Given the description of an element on the screen output the (x, y) to click on. 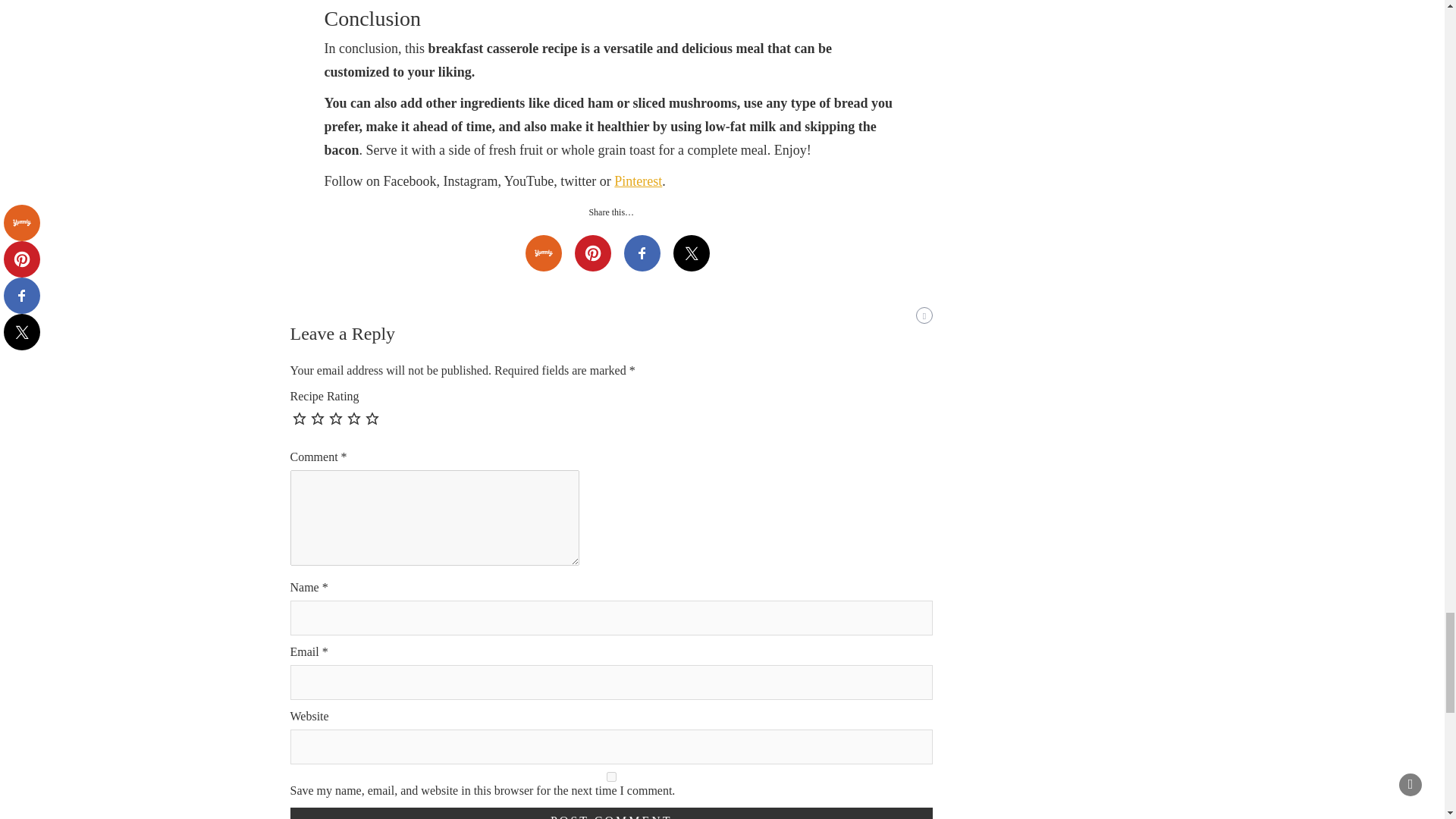
Pinterest (638, 181)
Post Comment (611, 813)
yes (611, 777)
